Given the description of an element on the screen output the (x, y) to click on. 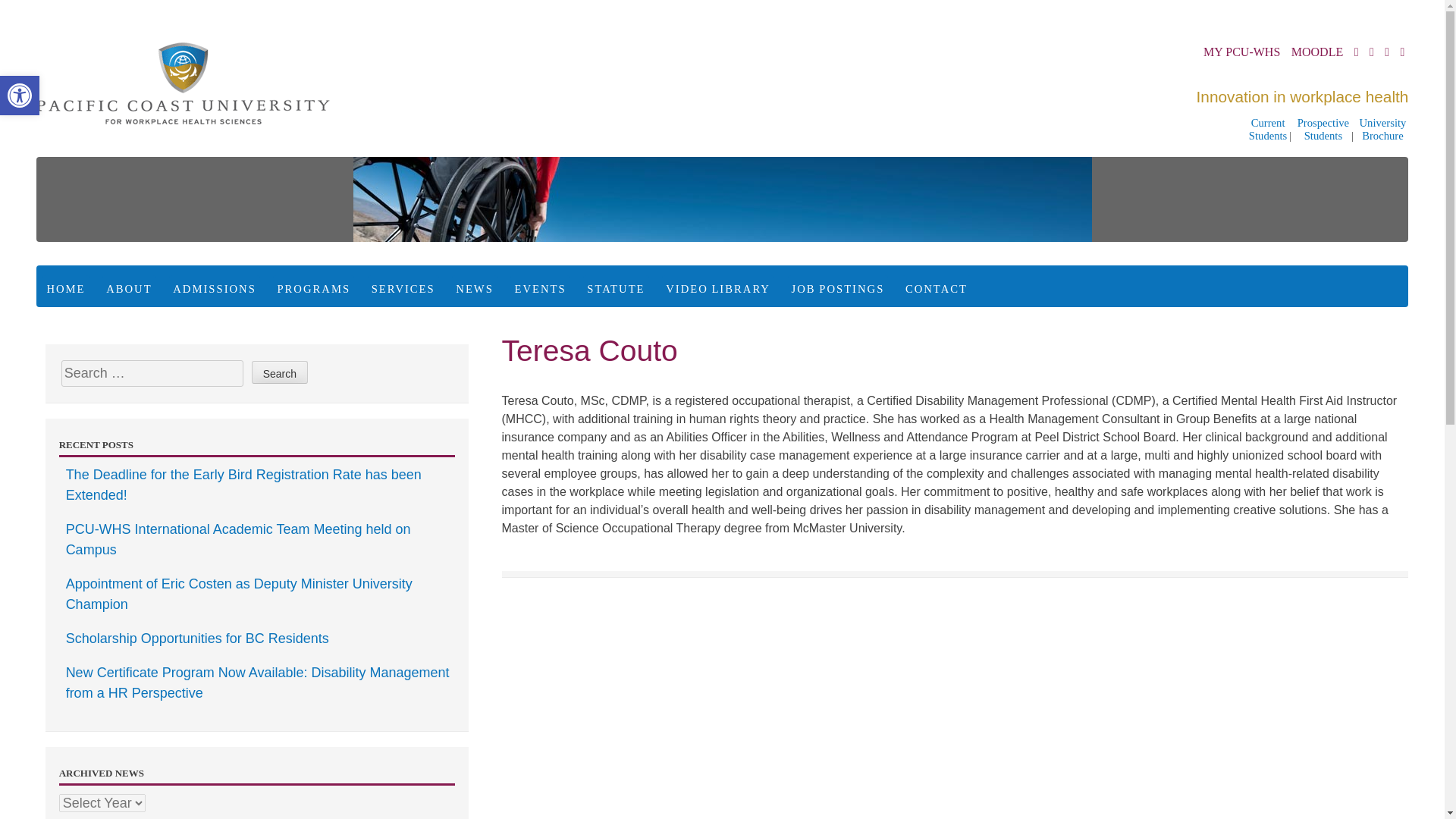
YOUTUBE (1356, 51)
NEWS (19, 95)
JOB POSTINGS (474, 290)
SERVICES (837, 290)
ADMISSIONS (1382, 129)
Accessibility Tools (403, 290)
STATUTE (214, 290)
Search (19, 95)
HOME (615, 290)
INSTAGRAM (279, 372)
MYPCU-WHS (65, 290)
